Given the description of an element on the screen output the (x, y) to click on. 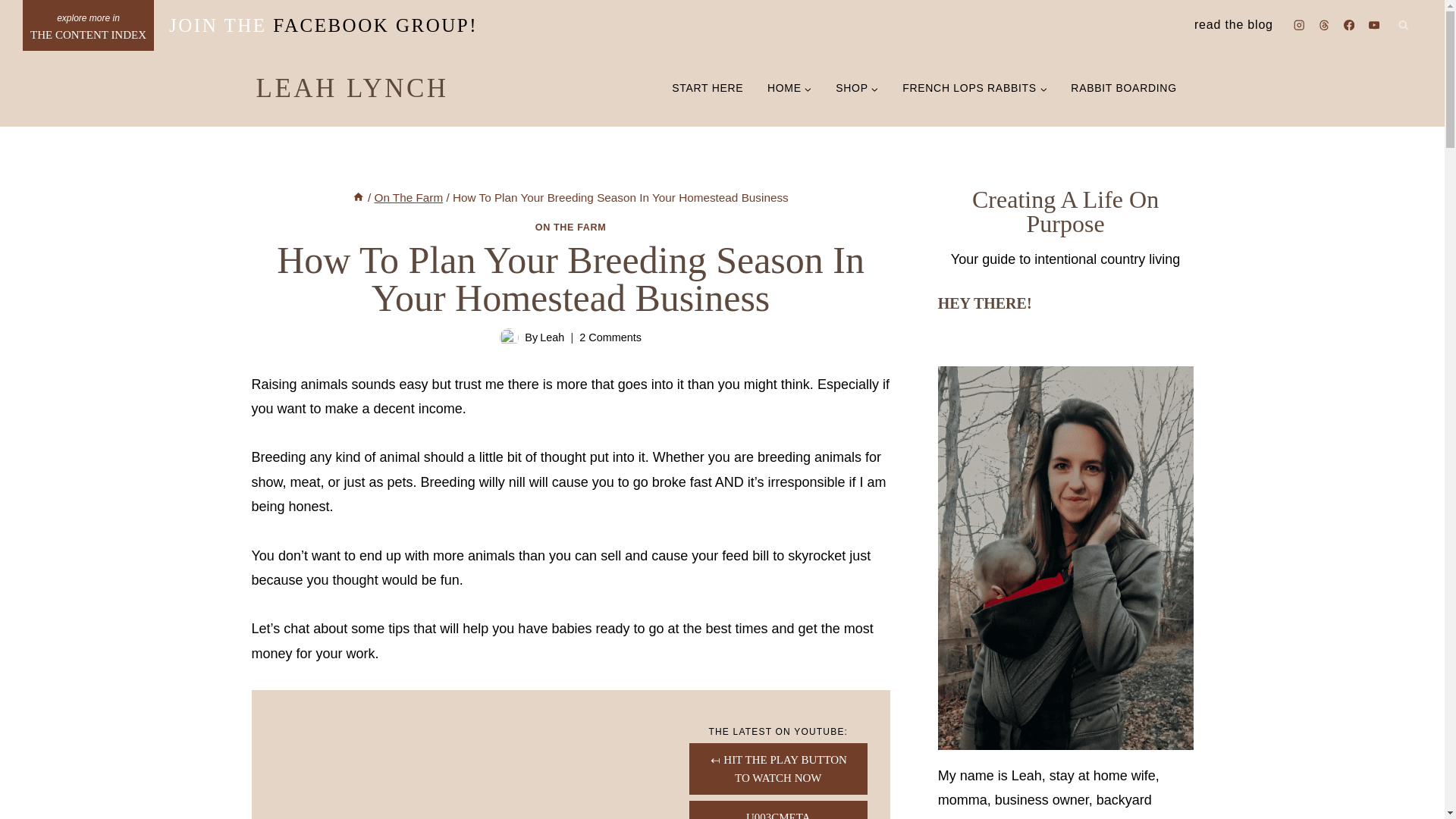
RABBIT BOARDING (1124, 87)
On The Farm (408, 196)
BREEDING SEASON - how to plan for your sanity (458, 754)
SHOP (856, 87)
LEAH LYNCH (352, 88)
HOME (789, 87)
ON THE FARM (571, 226)
FRENCH LOPS RABBITS (973, 87)
read the blog (1232, 24)
2 Comments (610, 338)
